Given the description of an element on the screen output the (x, y) to click on. 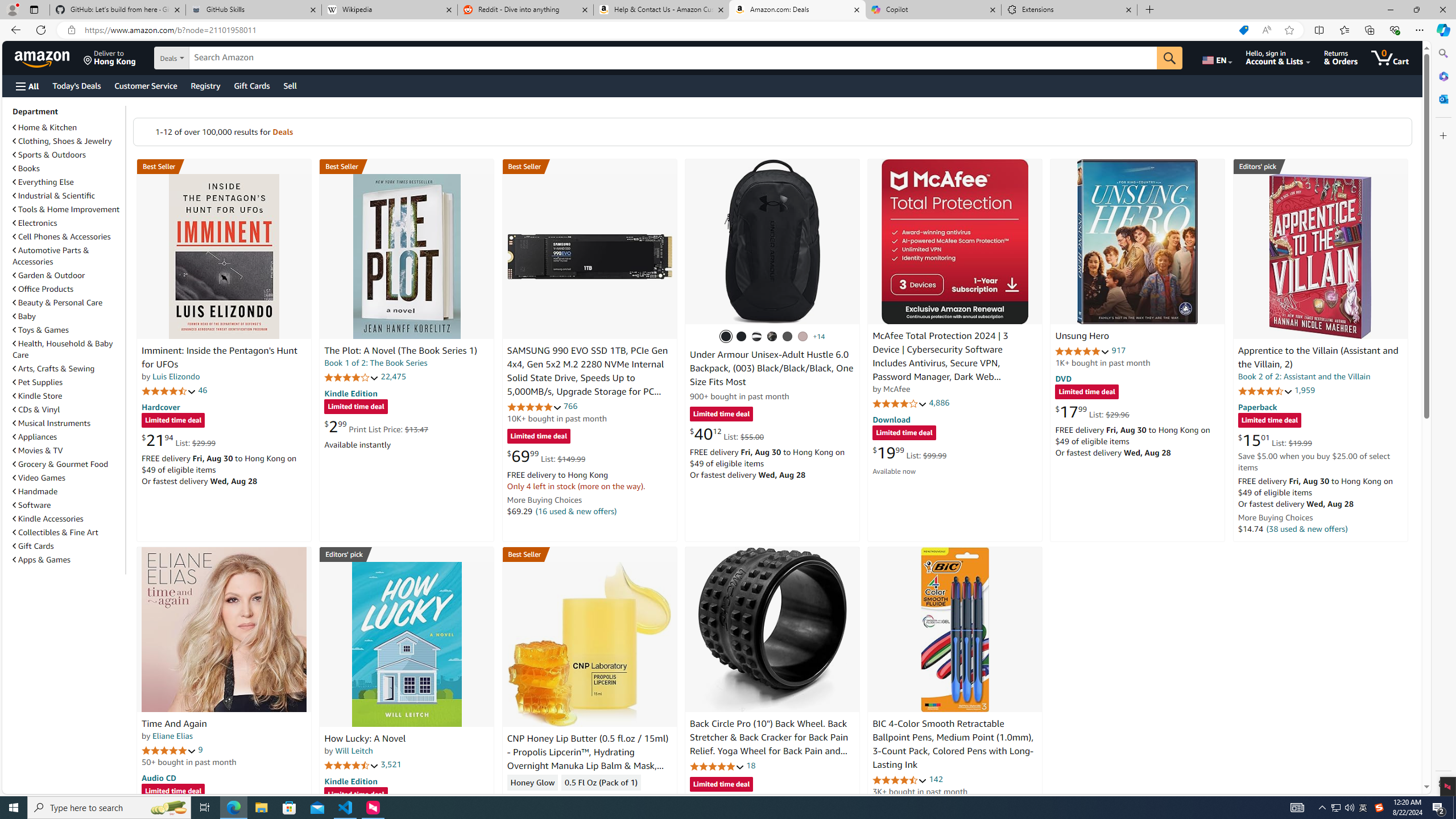
Wikipedia (390, 9)
Musical Instruments (51, 422)
4.9 out of 5 stars (1082, 351)
Garden & Outdoor (49, 275)
22,475 (393, 376)
Software (31, 504)
Extensions (1068, 9)
Paperback (1256, 406)
Sports & Outdoors (67, 154)
Deliver to Hong Kong (109, 57)
